Given the description of an element on the screen output the (x, y) to click on. 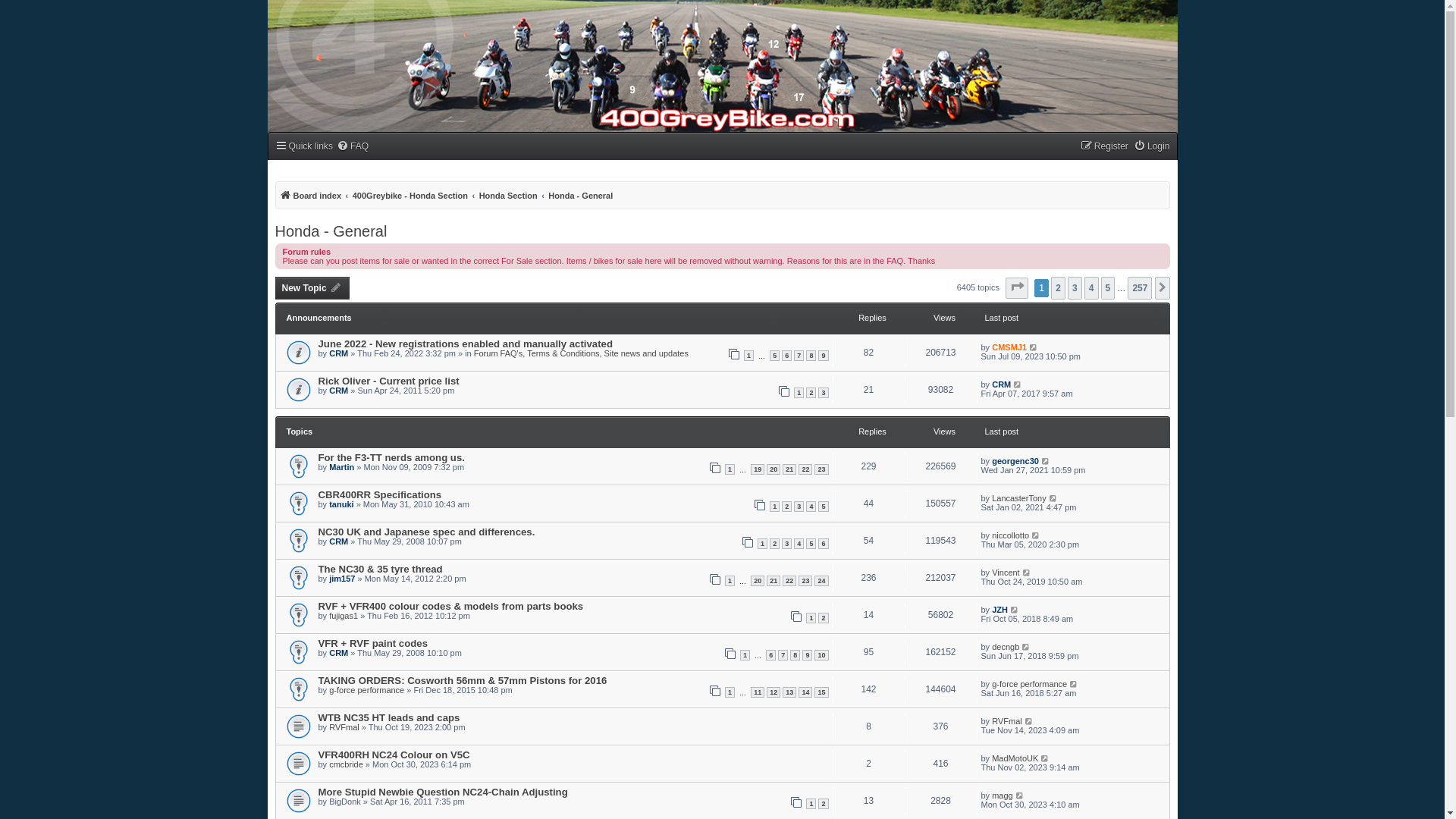
Board index Element type: text (310, 195)
The NC30 & 35 tyre thread Element type: text (380, 568)
Next Element type: text (1161, 287)
cmcbride Element type: text (346, 763)
3 Element type: text (1074, 287)
24 Element type: text (821, 580)
257 Element type: text (1139, 287)
Go to last post Element type: hover (1027, 572)
4 Element type: text (1091, 287)
New Topic Element type: text (311, 287)
20 Element type: text (773, 469)
Martin Element type: text (341, 466)
11 Element type: text (757, 692)
5 Element type: text (1108, 287)
2 Element type: text (823, 617)
14 Element type: text (805, 692)
georgenc30 Element type: text (1014, 460)
CRM Element type: text (338, 541)
Go to last post Element type: hover (1014, 609)
Vincent Element type: text (1005, 572)
1 Element type: text (810, 803)
Go to last post Element type: hover (1033, 346)
MadMotoUK Element type: text (1014, 757)
1 Element type: text (744, 654)
19 Element type: text (757, 469)
20 Element type: text (757, 580)
Register Element type: text (1104, 146)
3 Element type: text (798, 506)
15 Element type: text (821, 692)
Page of Element type: text (1016, 287)
NC30 UK and Japanese spec and differences. Element type: text (426, 531)
RVFmal Element type: text (1006, 720)
1 Element type: text (798, 392)
13 Element type: text (789, 692)
2 Element type: text (774, 543)
g-force performance Element type: text (1028, 683)
CMSMJ1 Element type: text (1008, 346)
fujigas1 Element type: text (343, 615)
decngb Element type: text (1005, 646)
WTB NC35 HT leads and caps Element type: text (389, 717)
1 Element type: text (810, 617)
magg Element type: text (1002, 795)
FAQ Element type: text (352, 146)
Board index Element type: hover (331, 24)
400Greybike - Honda Section Element type: text (409, 195)
1 Element type: text (748, 355)
5 Element type: text (774, 355)
2 Element type: text (1058, 287)
21 Element type: text (773, 580)
8 Element type: text (810, 355)
2 Element type: text (823, 803)
1 Element type: text (729, 469)
1 Element type: text (729, 580)
4 Element type: text (798, 543)
More Stupid Newbie Question NC24-Chain Adjusting Element type: text (442, 791)
12 Element type: text (773, 692)
Go to last post Element type: hover (1026, 646)
6 Element type: text (823, 543)
22 Element type: text (805, 469)
jim157 Element type: text (341, 578)
CRM Element type: text (338, 652)
Go to last post Element type: hover (1029, 720)
Go to last post Element type: hover (1020, 795)
7 Element type: text (782, 654)
2 Element type: text (810, 392)
1 Element type: text (762, 543)
Go to last post Element type: hover (1074, 683)
Go to last post Element type: hover (1045, 757)
9 Element type: text (823, 355)
Honda - General Element type: text (580, 195)
23 Element type: text (805, 580)
7 Element type: text (798, 355)
RVF + VFR400 colour codes & models from parts books Element type: text (450, 605)
JZH Element type: text (999, 609)
Rick Oliver - Current price list Element type: text (388, 380)
6 Element type: text (786, 355)
TAKING ORDERS: Cosworth 56mm & 57mm Pistons for 2016 Element type: text (462, 680)
21 Element type: text (789, 469)
June 2022 - New registrations enabled and manually activated Element type: text (465, 343)
5 Element type: text (823, 506)
1 Element type: text (774, 506)
VFR + RVF paint codes Element type: text (372, 643)
9 Element type: text (807, 654)
niccollotto Element type: text (1010, 534)
LancasterTony Element type: text (1018, 497)
CRM Element type: text (338, 390)
Honda Section Element type: text (508, 195)
23 Element type: text (821, 469)
1 Element type: text (729, 692)
Quick links Element type: text (303, 146)
VFR400RH NC24 Colour on V5C Element type: text (394, 754)
Login Element type: text (1151, 146)
CRM Element type: text (338, 352)
Go to last post Element type: hover (1036, 534)
g-force performance Element type: text (366, 689)
22 Element type: text (789, 580)
RVFmal Element type: text (344, 726)
10 Element type: text (821, 654)
CBR400RR Specifications Element type: text (380, 494)
tanuki Element type: text (341, 503)
CRM Element type: text (1000, 384)
8 Element type: text (795, 654)
4 Element type: text (810, 506)
For the F3-TT nerds among us. Element type: text (391, 457)
Go to last post Element type: hover (1053, 497)
6 Element type: text (770, 654)
2 Element type: text (786, 506)
5 Element type: text (810, 543)
3 Element type: text (823, 392)
Forum FAQ's, Terms & Conditions, Site news and updates Element type: text (580, 352)
Go to last post Element type: hover (1017, 384)
Honda - General Element type: text (330, 230)
3 Element type: text (786, 543)
Go to last post Element type: hover (1046, 460)
